Given the description of an element on the screen output the (x, y) to click on. 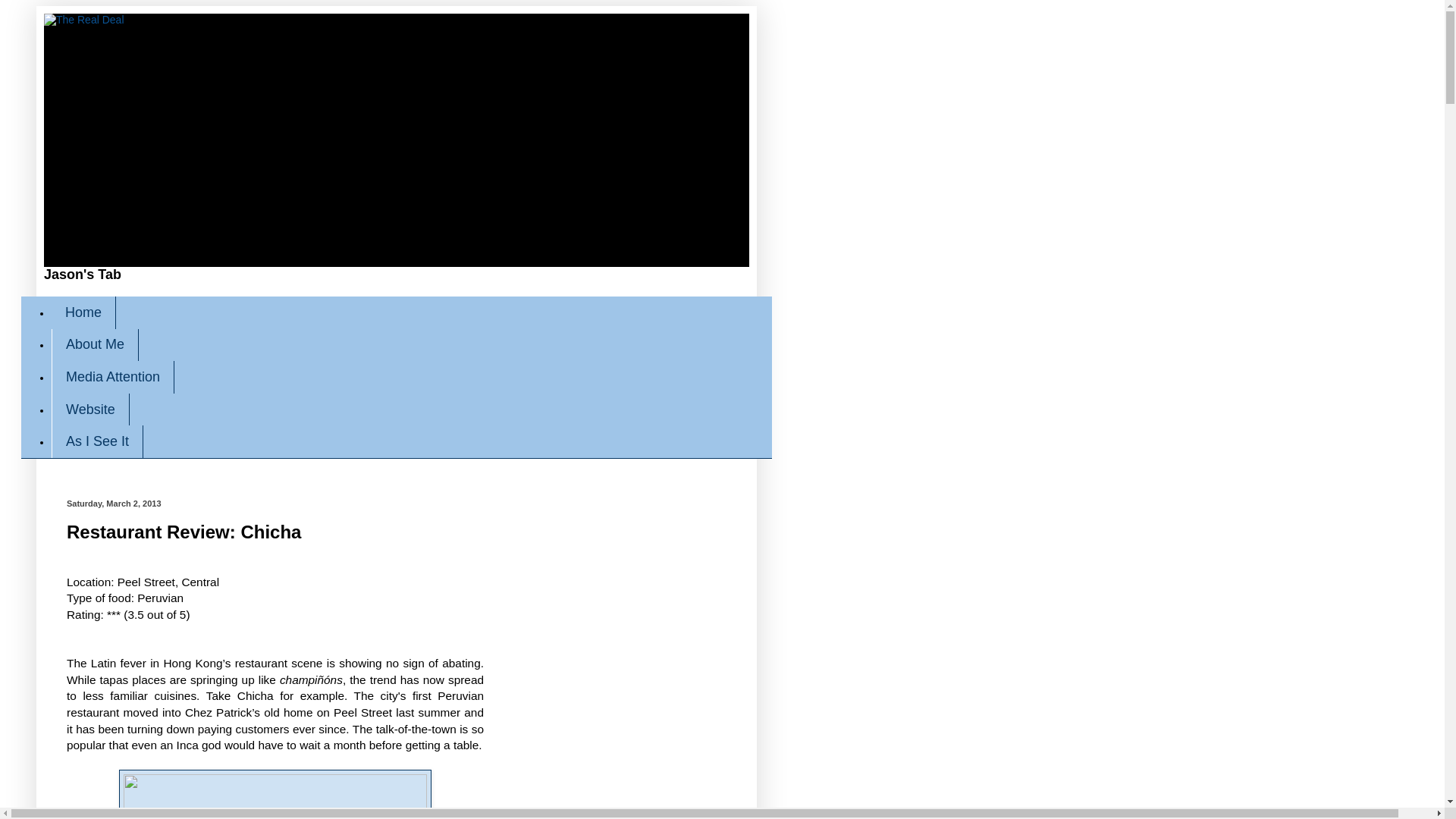
About Me (94, 345)
Media Attention (112, 377)
Website (89, 409)
As I See It (96, 441)
Home (83, 312)
